Given the description of an element on the screen output the (x, y) to click on. 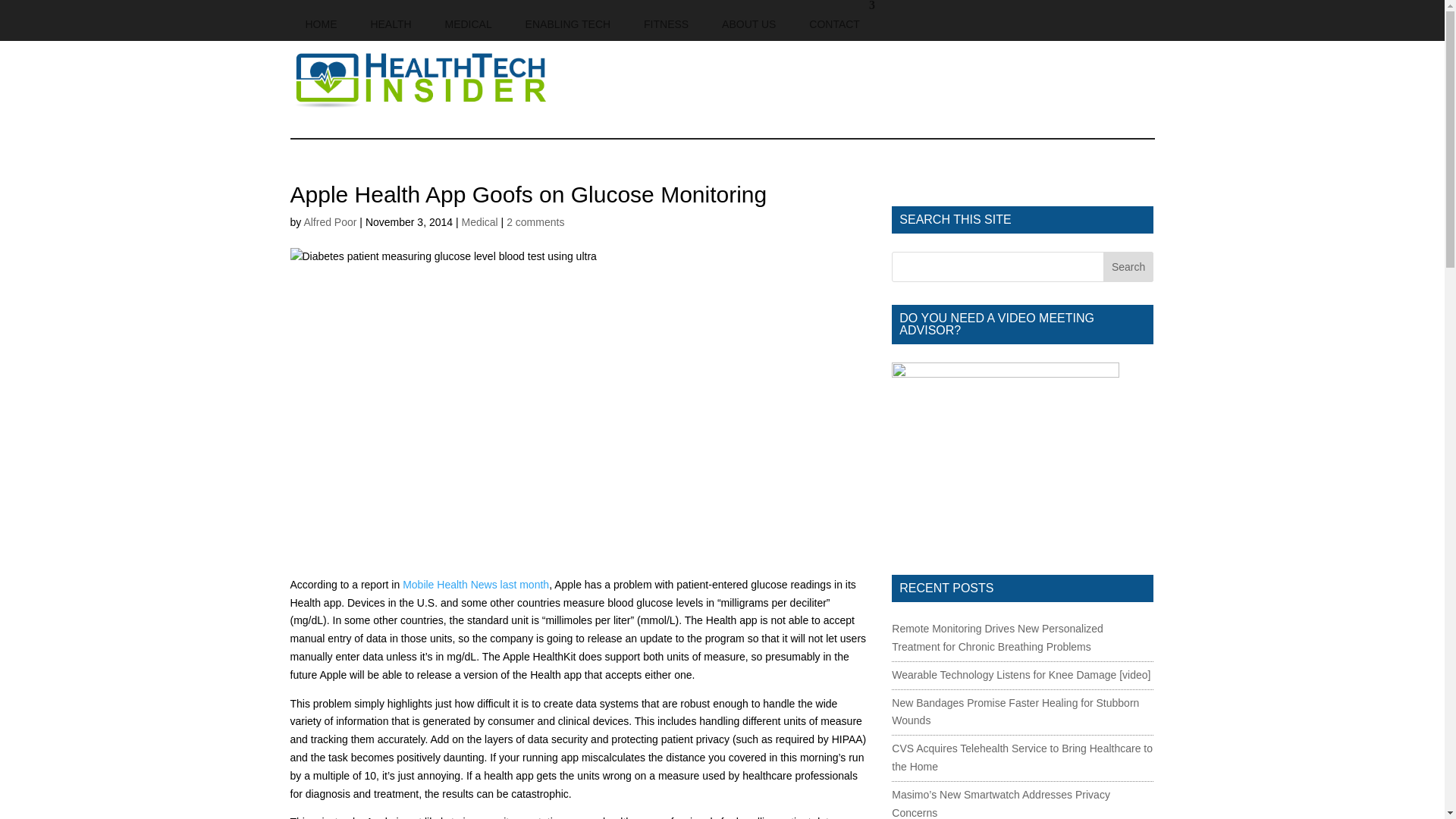
HEALTH (390, 20)
ENABLING TECH (568, 20)
Mobile Health News last month (475, 584)
Search (1128, 266)
New Bandages Promise Faster Healing for Stubborn Wounds (1014, 711)
Posts by Alfred Poor (329, 222)
CONTACT (834, 20)
FITNESS (665, 20)
